Given the description of an element on the screen output the (x, y) to click on. 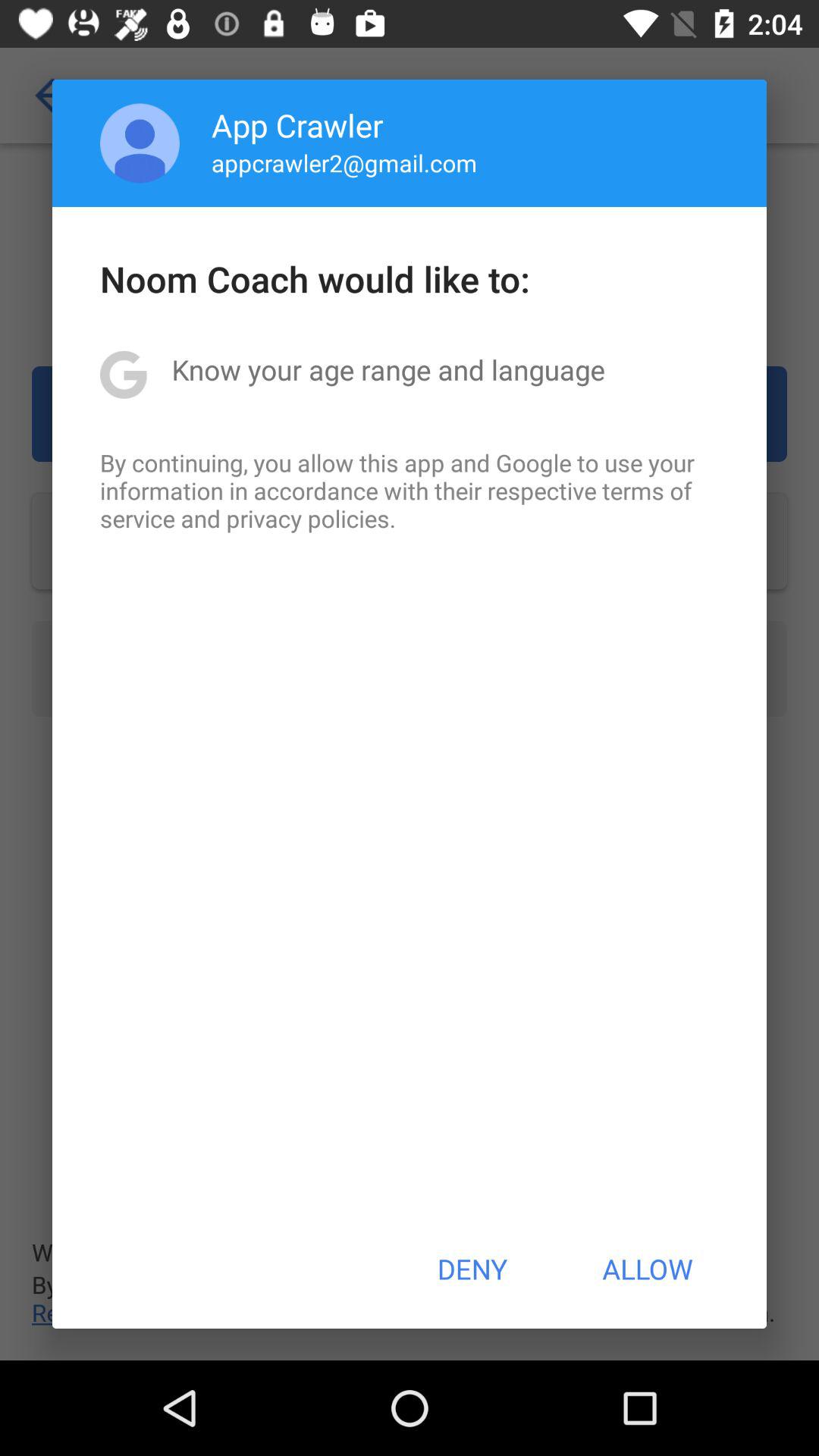
flip to deny icon (471, 1268)
